Given the description of an element on the screen output the (x, y) to click on. 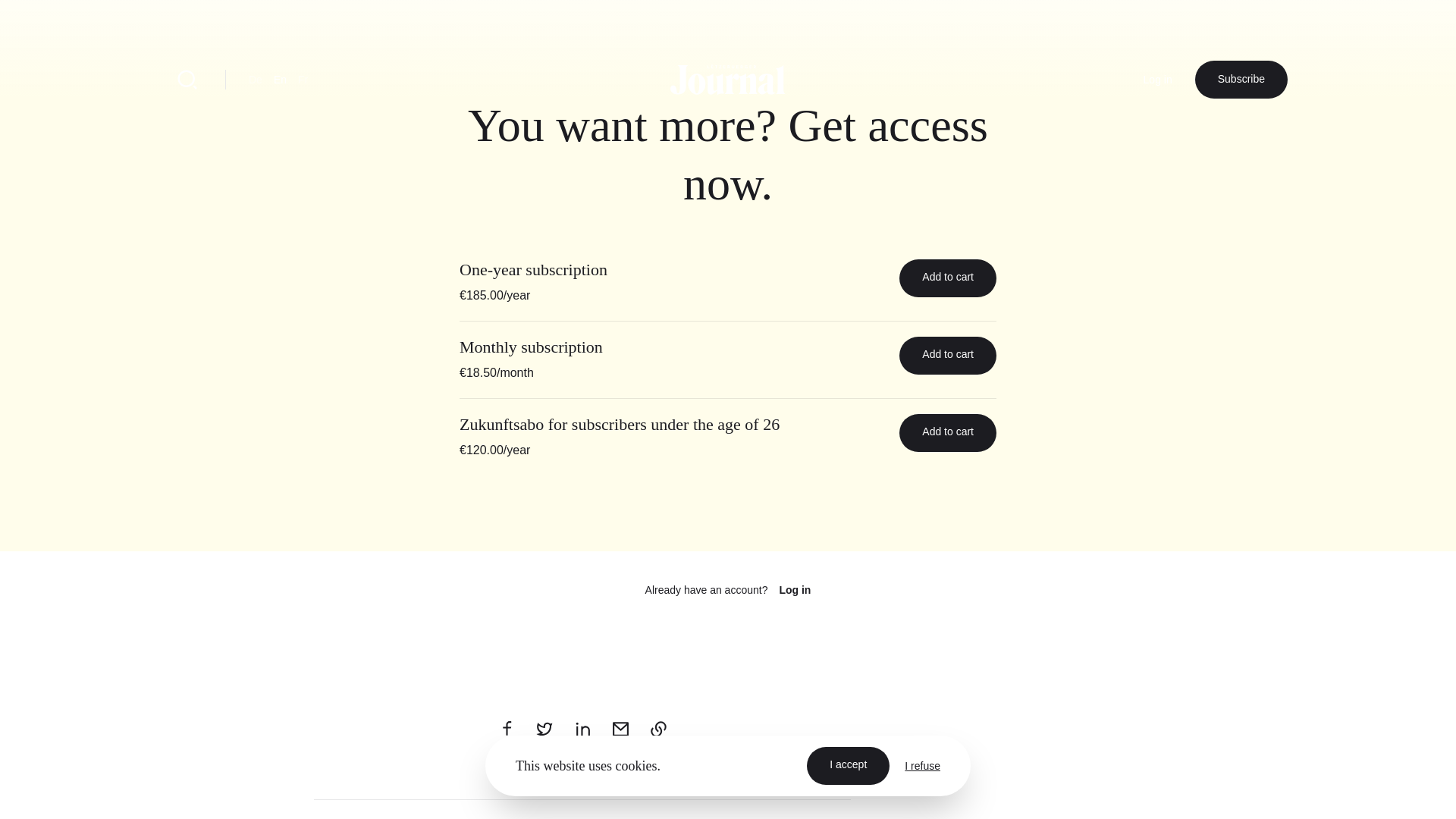
Add to cart (947, 278)
Add to cart (947, 355)
Add to cart (947, 433)
